Given the description of an element on the screen output the (x, y) to click on. 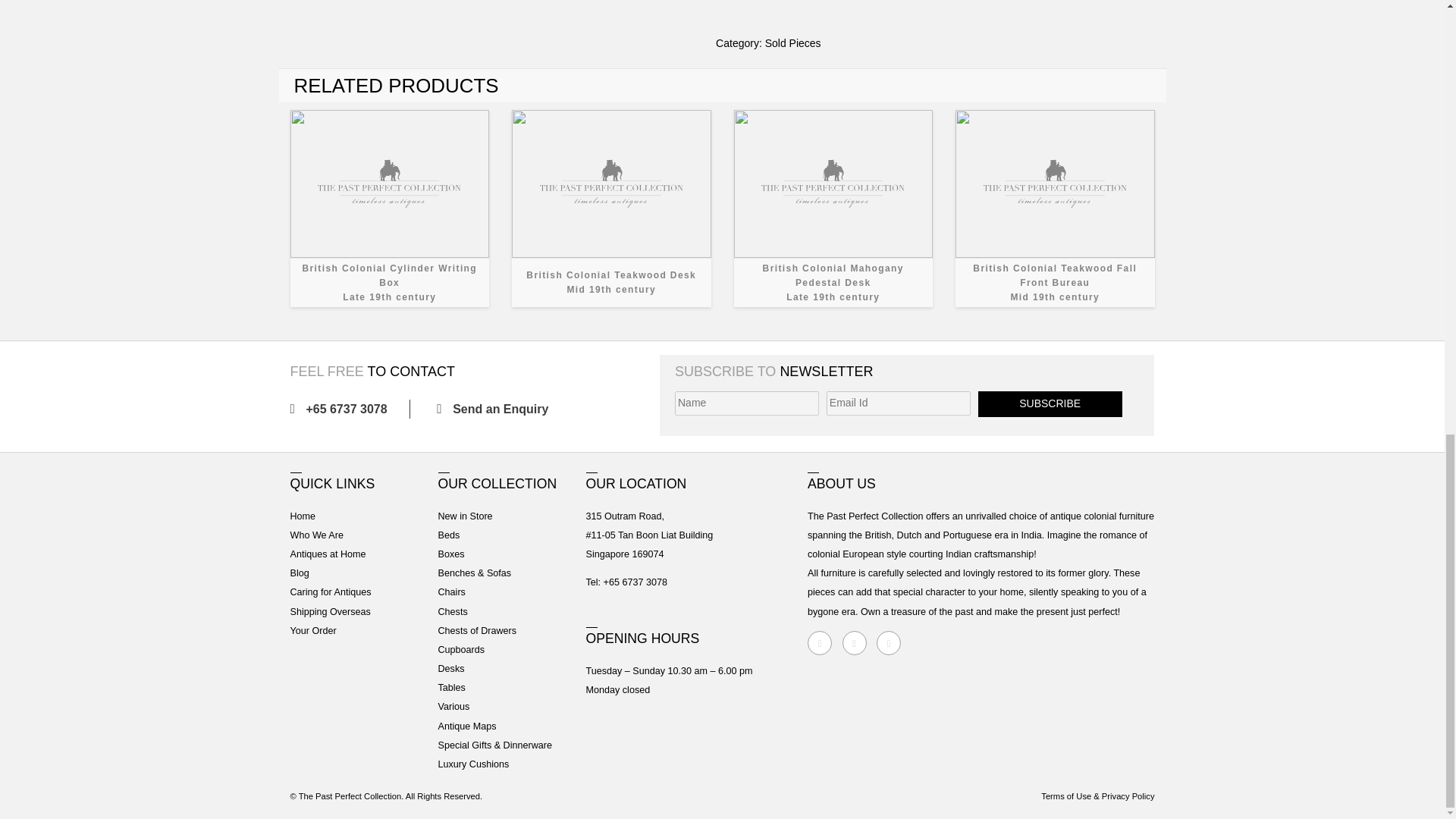
Send an Enquiry (497, 408)
Sold Pieces (833, 208)
SUBSCRIBE (389, 208)
